Given the description of an element on the screen output the (x, y) to click on. 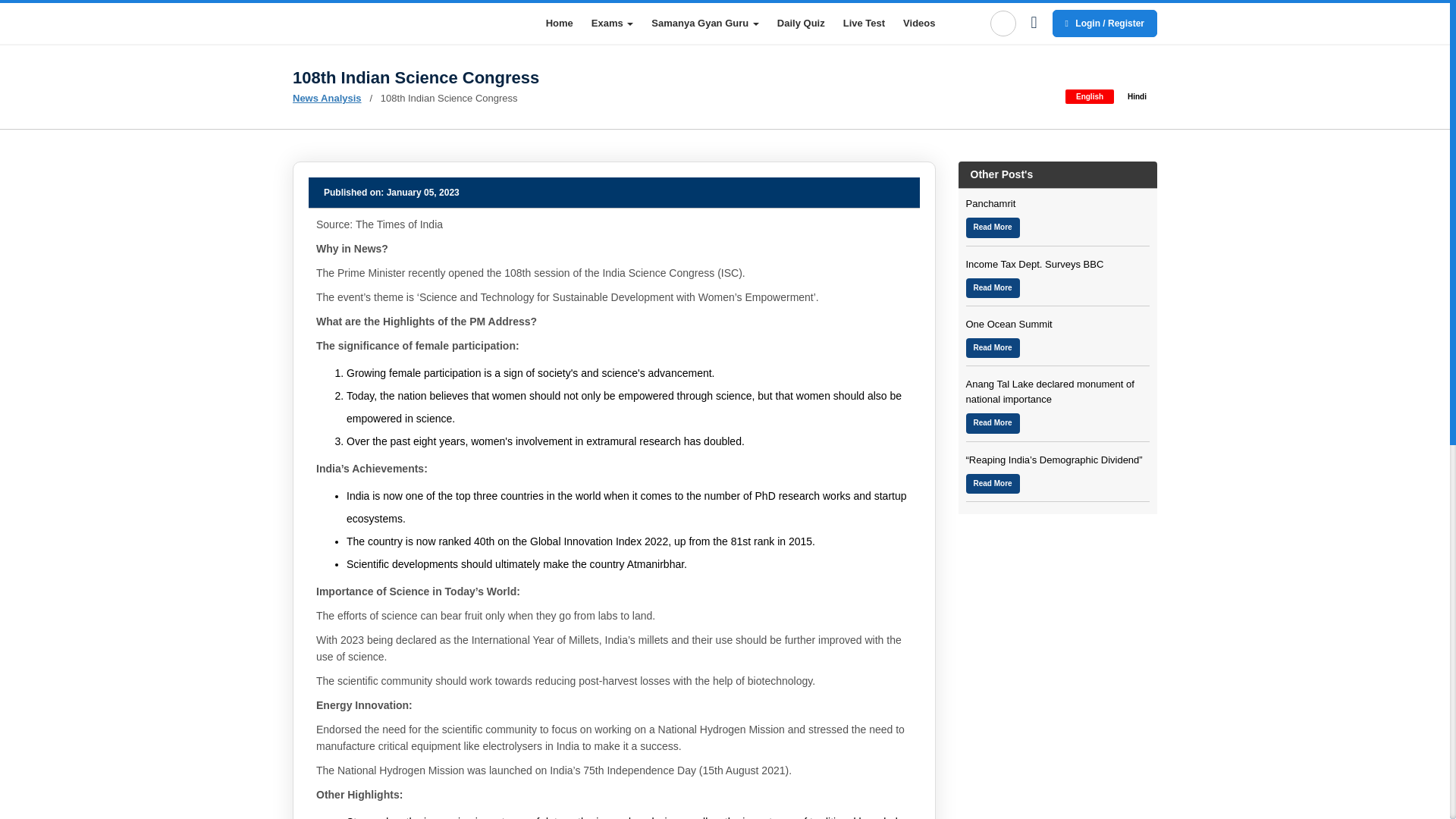
Hindi (1136, 96)
Daily Quiz (791, 23)
Read More (993, 288)
view all (1140, 53)
Live Test (855, 23)
News Analysis (1046, 78)
Samanya Gyan Guru (326, 98)
Home (695, 23)
Exams (550, 23)
